Given the description of an element on the screen output the (x, y) to click on. 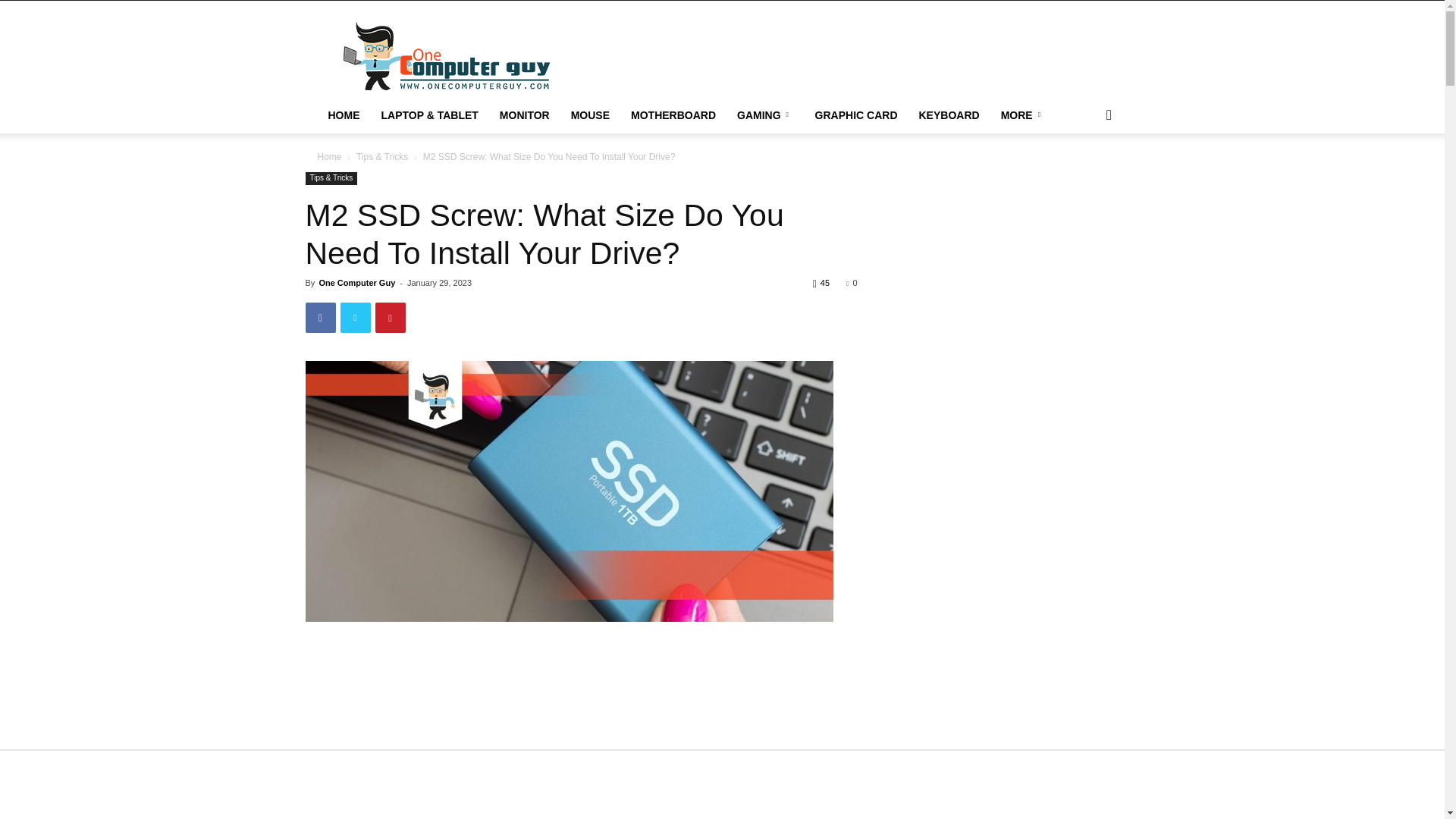
MOTHERBOARD (673, 115)
GRAPHIC CARD (856, 115)
MORE (1023, 115)
KEYBOARD (949, 115)
MOUSE (590, 115)
MONITOR (524, 115)
GAMING (765, 115)
HOME (343, 115)
